Given the description of an element on the screen output the (x, y) to click on. 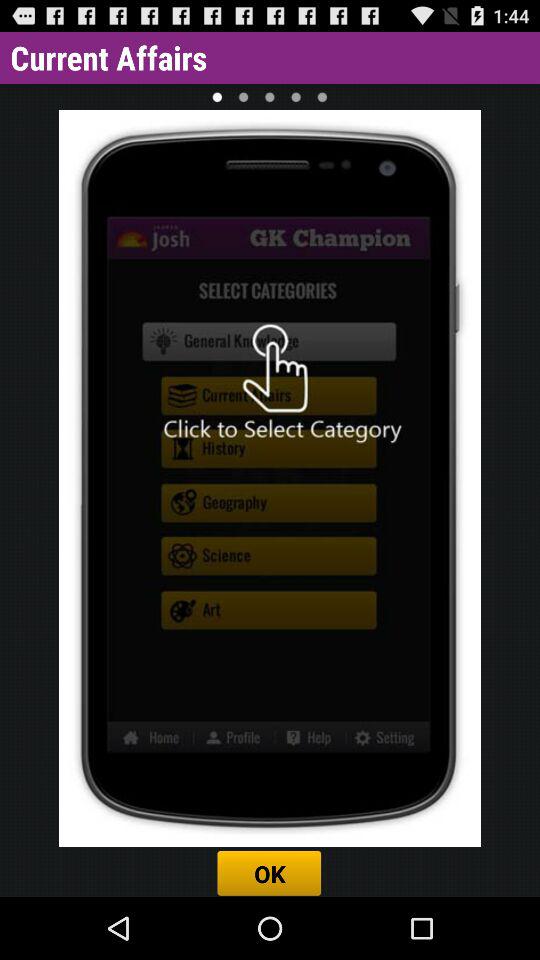
jump to the ok button (269, 873)
